Given the description of an element on the screen output the (x, y) to click on. 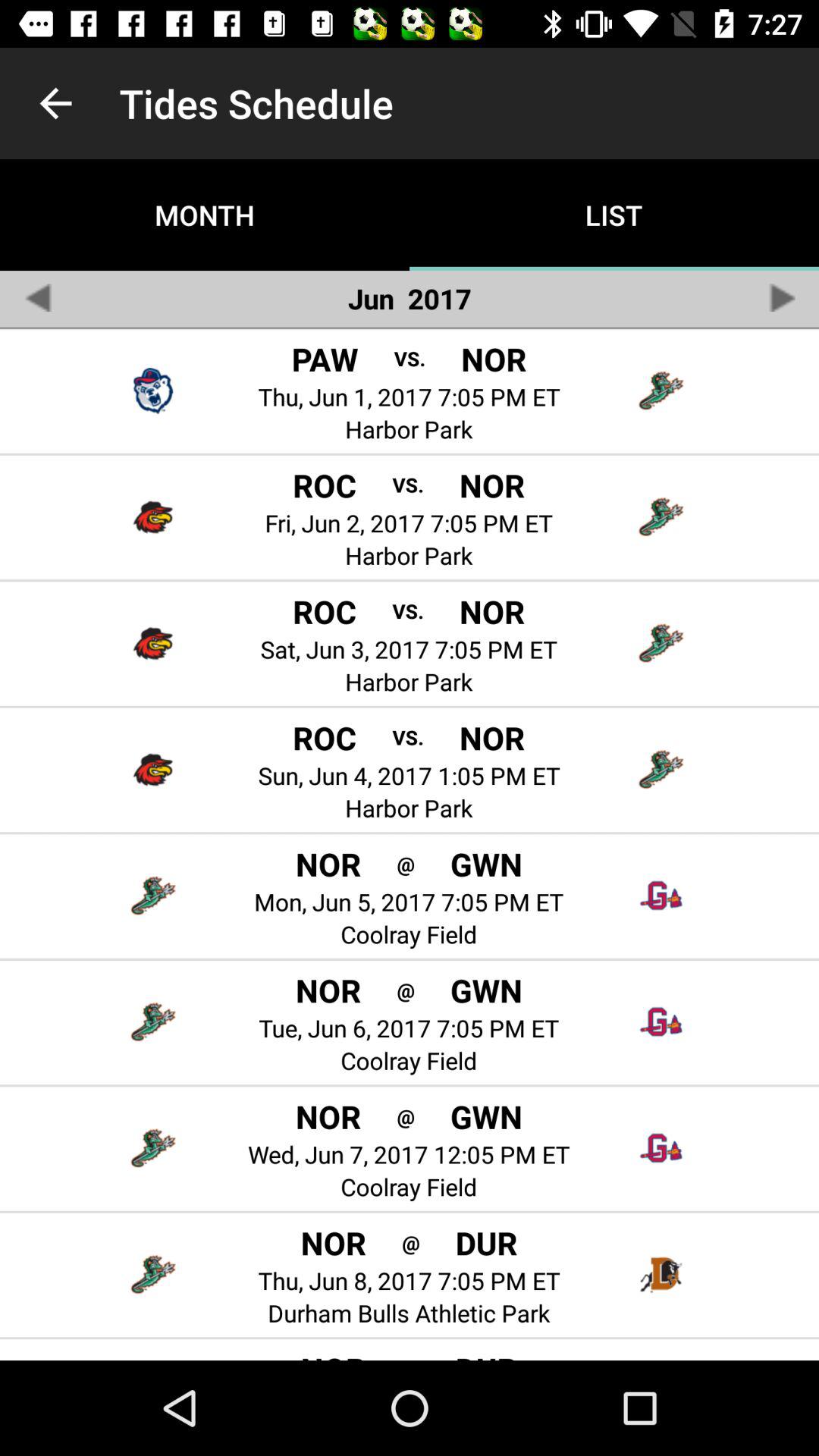
go to previous month (37, 297)
